Given the description of an element on the screen output the (x, y) to click on. 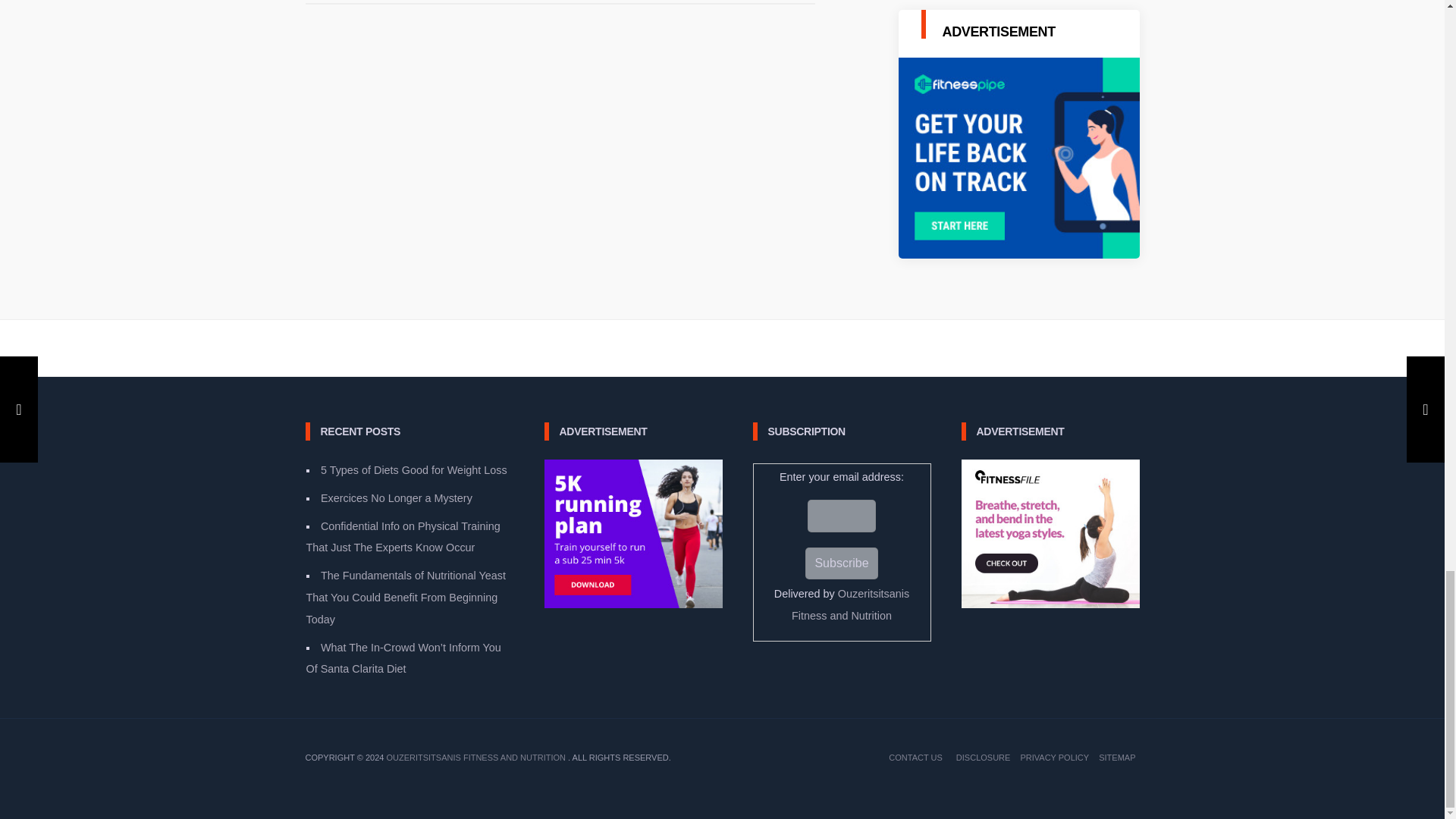
Subscribe (841, 563)
